Given the description of an element on the screen output the (x, y) to click on. 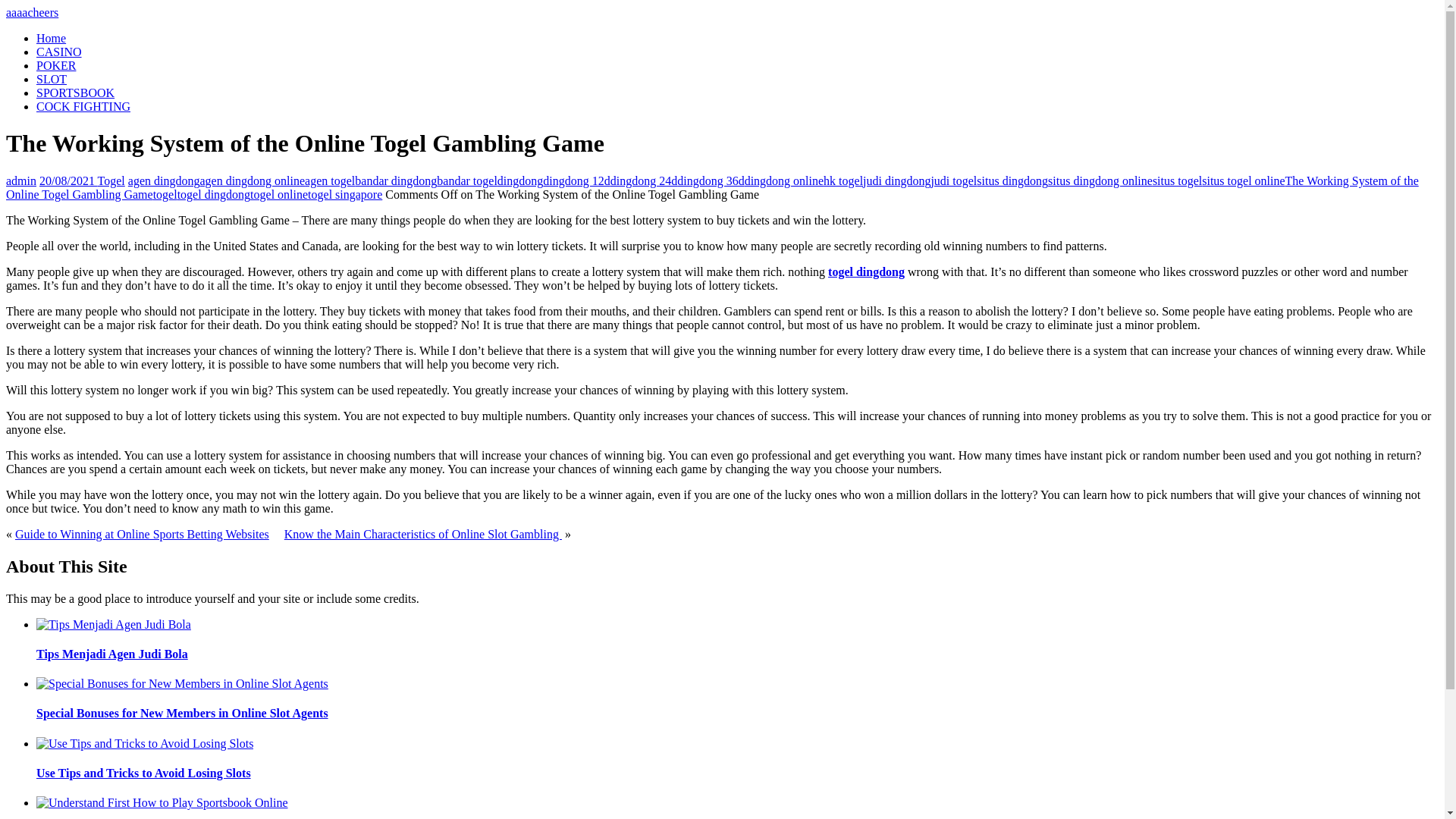
dingdong (520, 180)
admin (20, 180)
Posts by admin (20, 180)
CASINO (58, 51)
Togel (111, 180)
situs dingdong online (1100, 180)
The Working System of the Online Togel Gambling Game (711, 187)
bandar togel (466, 180)
judi togel (953, 180)
situs togel online (1243, 180)
Guide to Winning at Online Sports Betting Websites (141, 533)
Home (50, 38)
Know the Main Characteristics of Online Slot Gambling  (422, 533)
togel (164, 194)
COCK FIGHTING (83, 106)
